Given the description of an element on the screen output the (x, y) to click on. 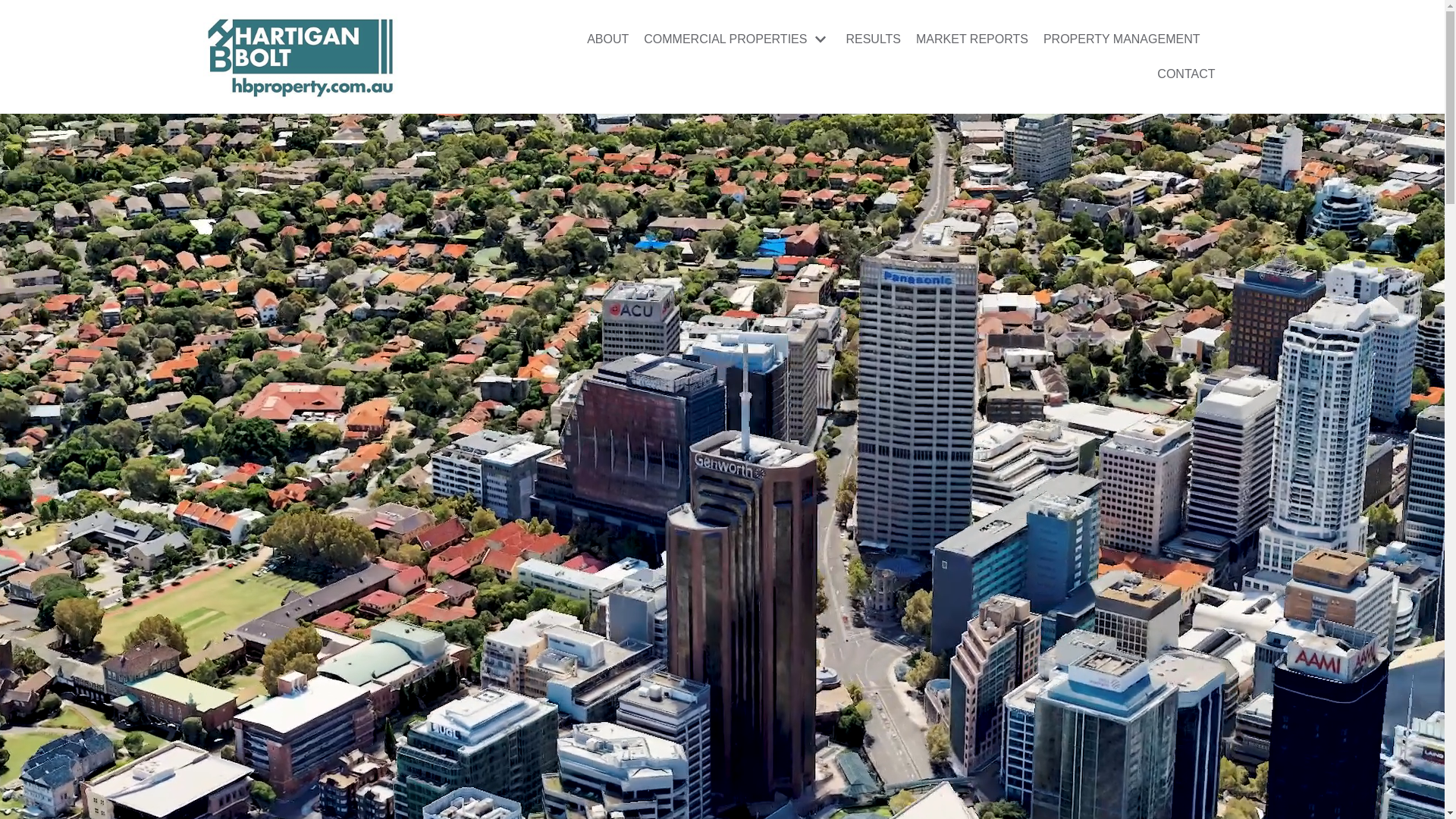
CONTACT Element type: text (1185, 74)
MARKET REPORTS Element type: text (972, 39)
RESULTS Element type: text (872, 39)
Skip to content Element type: text (15, 7)
PROPERTY MANAGEMENT Element type: text (1121, 39)
COMMERCIAL PROPERTIES Element type: text (736, 39)
ABOUT Element type: text (607, 39)
HB Property Element type: hover (300, 56)
